Given the description of an element on the screen output the (x, y) to click on. 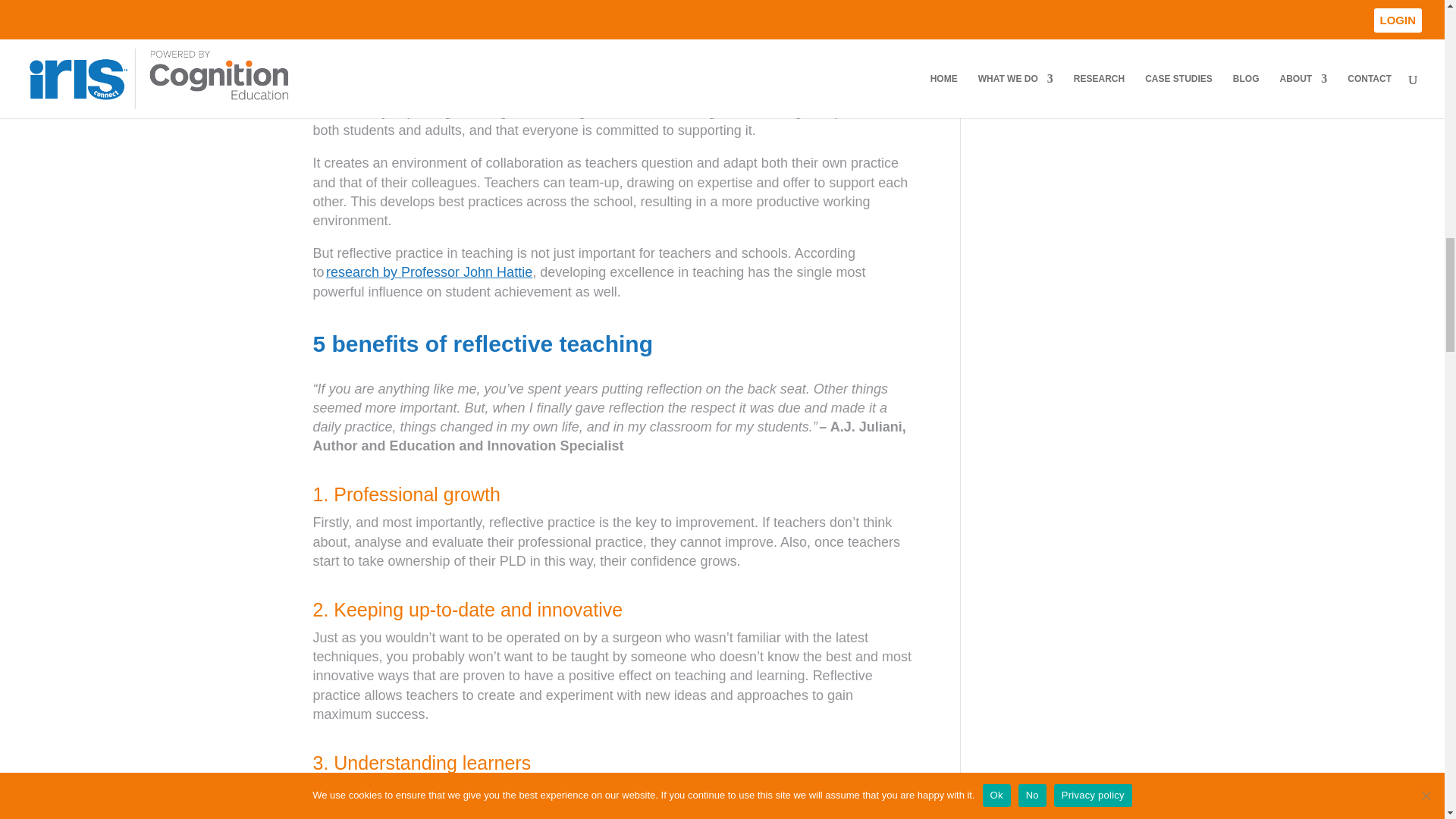
research by Professor John Hattie (429, 272)
